Given the description of an element on the screen output the (x, y) to click on. 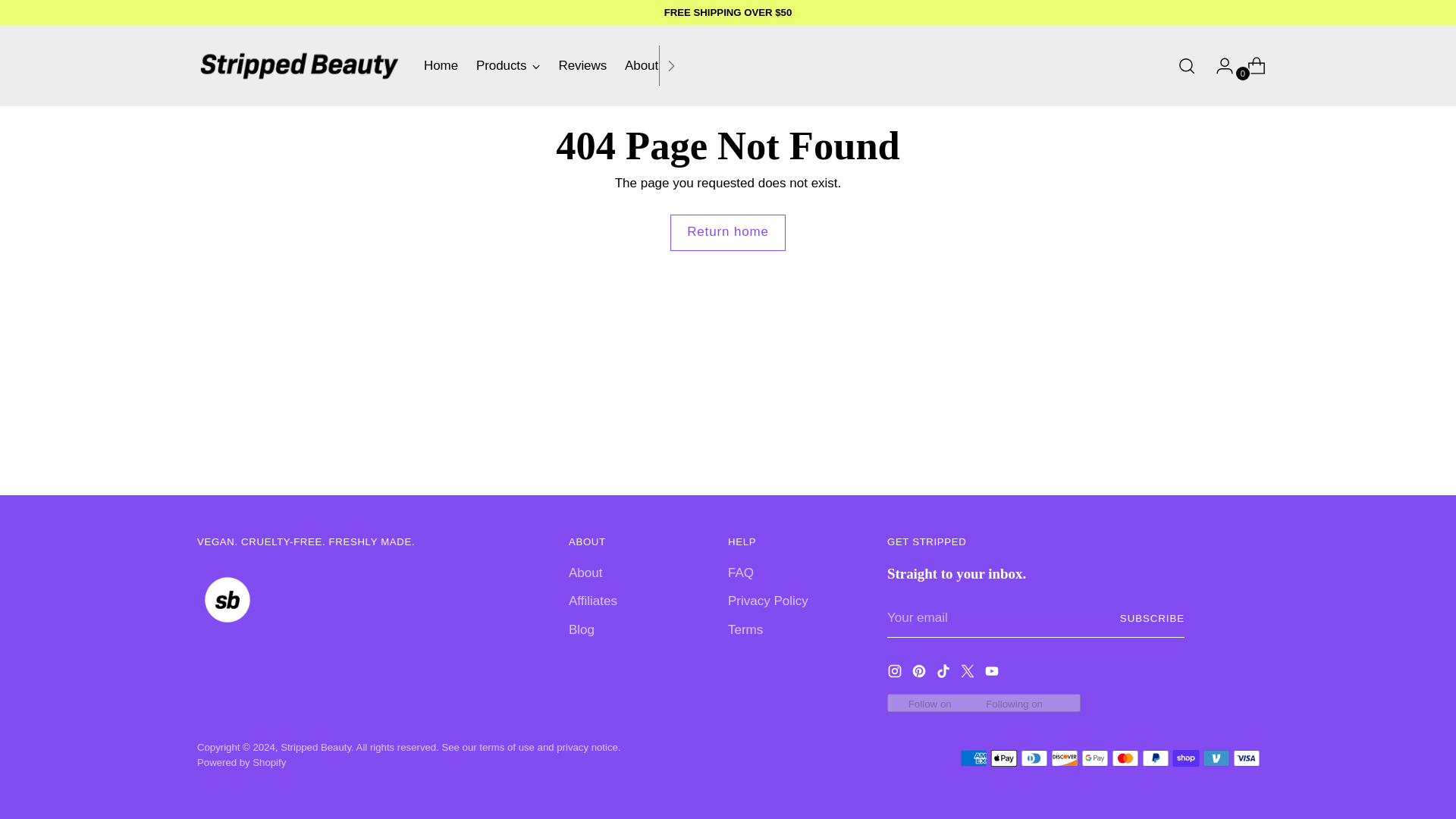
0 (1249, 65)
Reviews (582, 65)
About (641, 65)
Products (508, 65)
Home (552, 65)
